Given the description of an element on the screen output the (x, y) to click on. 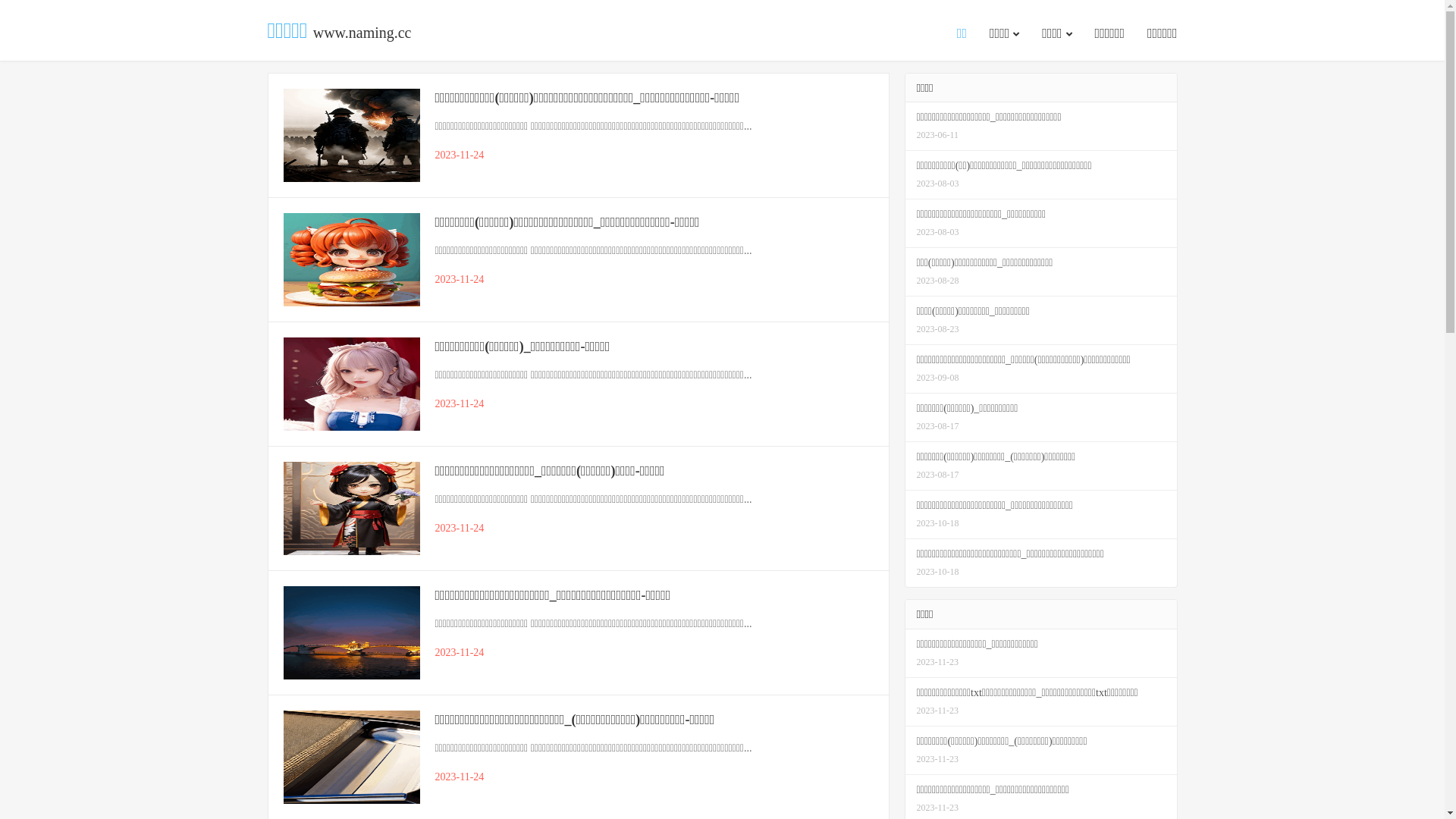
0 Element type: text (6, 24)
